Given the description of an element on the screen output the (x, y) to click on. 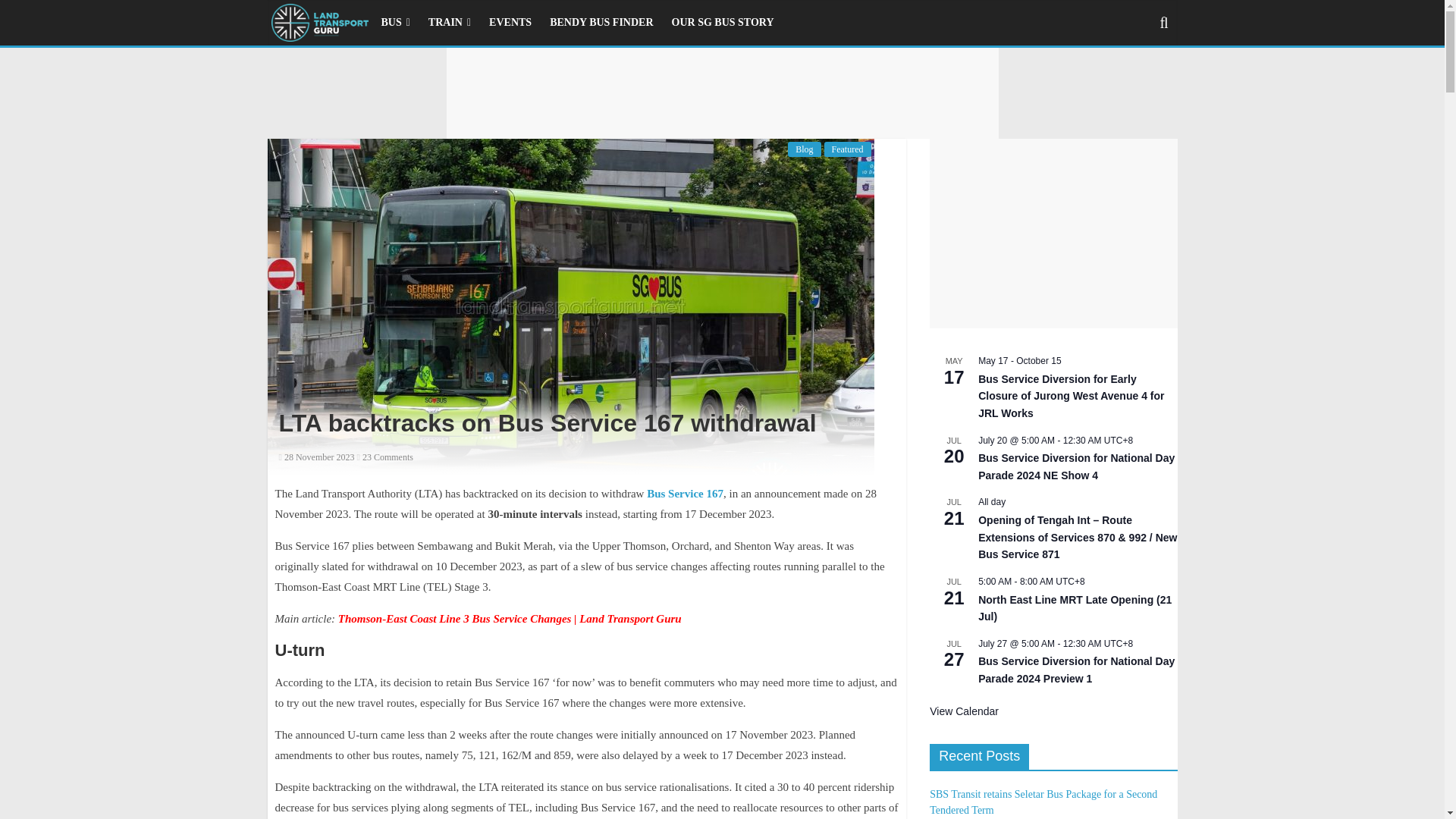
OUR SG BUS STORY (722, 22)
TRAIN (449, 22)
Featured (847, 149)
5:20 PM (317, 457)
BENDY BUS FINDER (601, 22)
Bus Service Diversion for National Day Parade 2024 NE Show 4 (1076, 467)
View more events. (964, 711)
BUS (395, 22)
28 November 2023 (317, 457)
Advertisement (1053, 233)
Advertisement (721, 92)
Bus Service 167 (684, 493)
23 Comments (384, 457)
Bus Service Diversion for National Day Parade 2024 Preview 1 (1076, 670)
